Given the description of an element on the screen output the (x, y) to click on. 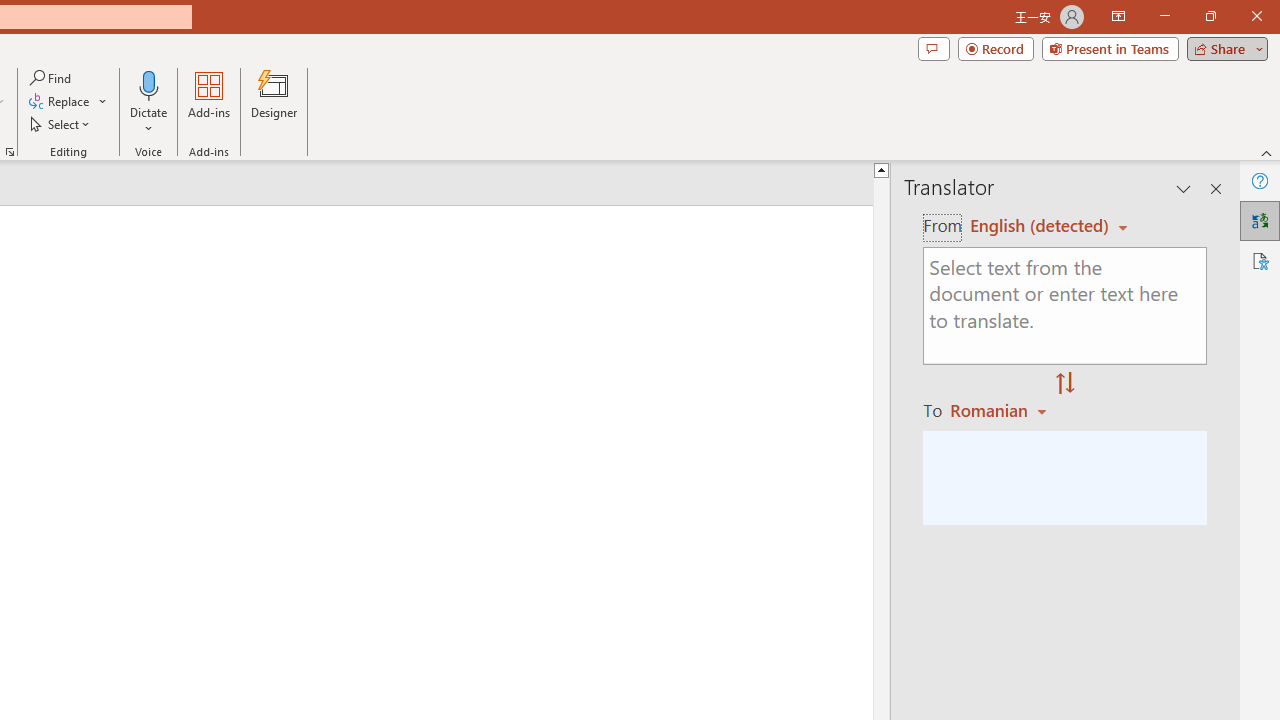
Romanian (1001, 409)
Swap "from" and "to" languages. (1065, 383)
